Given the description of an element on the screen output the (x, y) to click on. 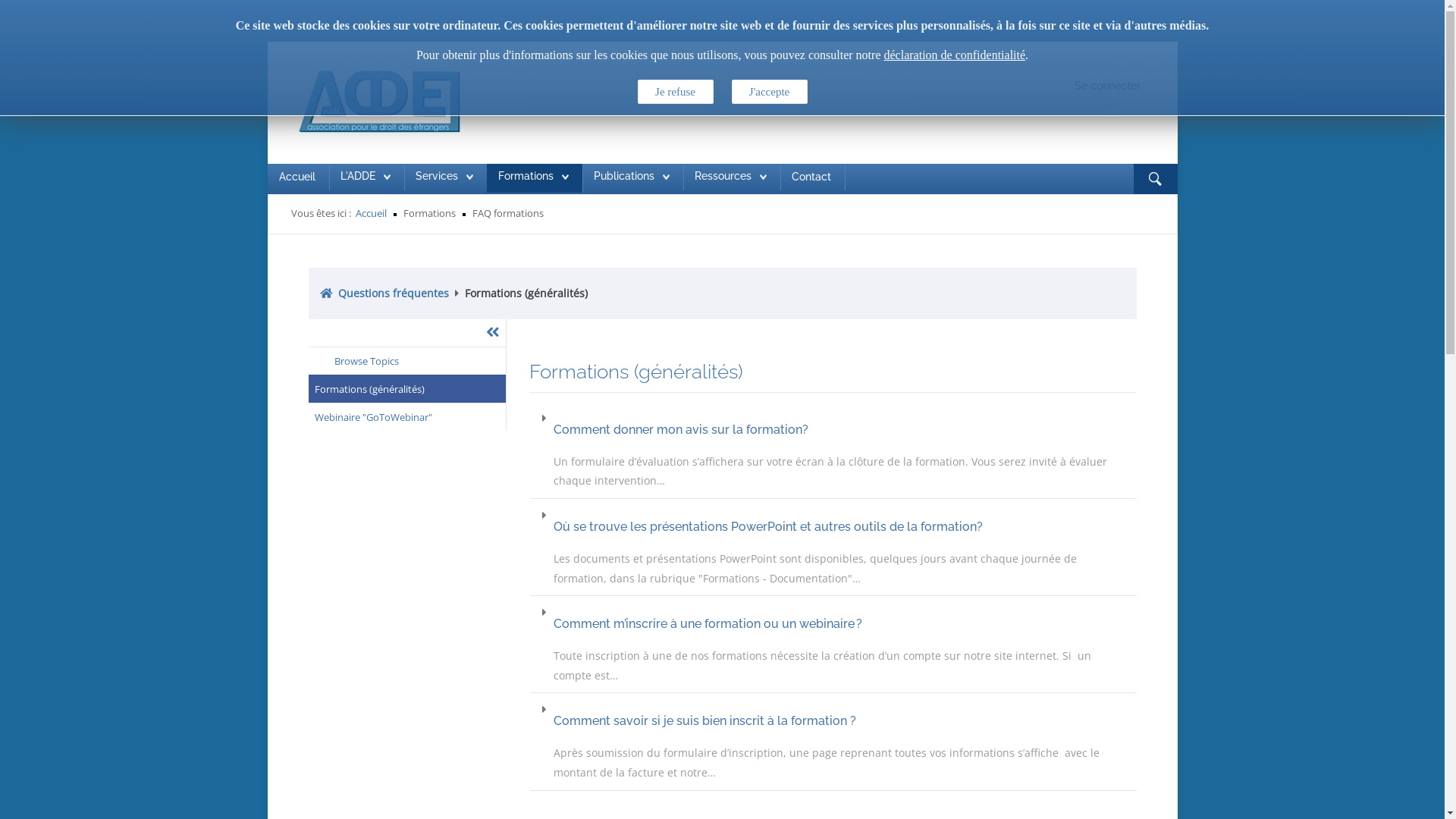
Publications Element type: text (630, 176)
Formations Element type: text (524, 175)
Ressources Element type: text (722, 175)
Contact Element type: text (811, 176)
Services Element type: text (436, 175)
Services Element type: text (444, 176)
Je refuse Element type: text (674, 91)
Formations Element type: text (532, 176)
Ressources Element type: text (730, 176)
Se connecter Element type: text (1106, 86)
Comment donner mon avis sur la formation? Element type: text (841, 429)
Accueil Element type: text (297, 176)
Webinaire "GoToWebinar" Element type: text (406, 416)
Accueil Element type: text (369, 212)
L'ADDE Element type: text (356, 175)
Browse Topics Element type: text (406, 360)
J'accepte Element type: text (768, 91)
Publications Element type: text (623, 175)
L'ADDE Element type: text (364, 176)
